Given the description of an element on the screen output the (x, y) to click on. 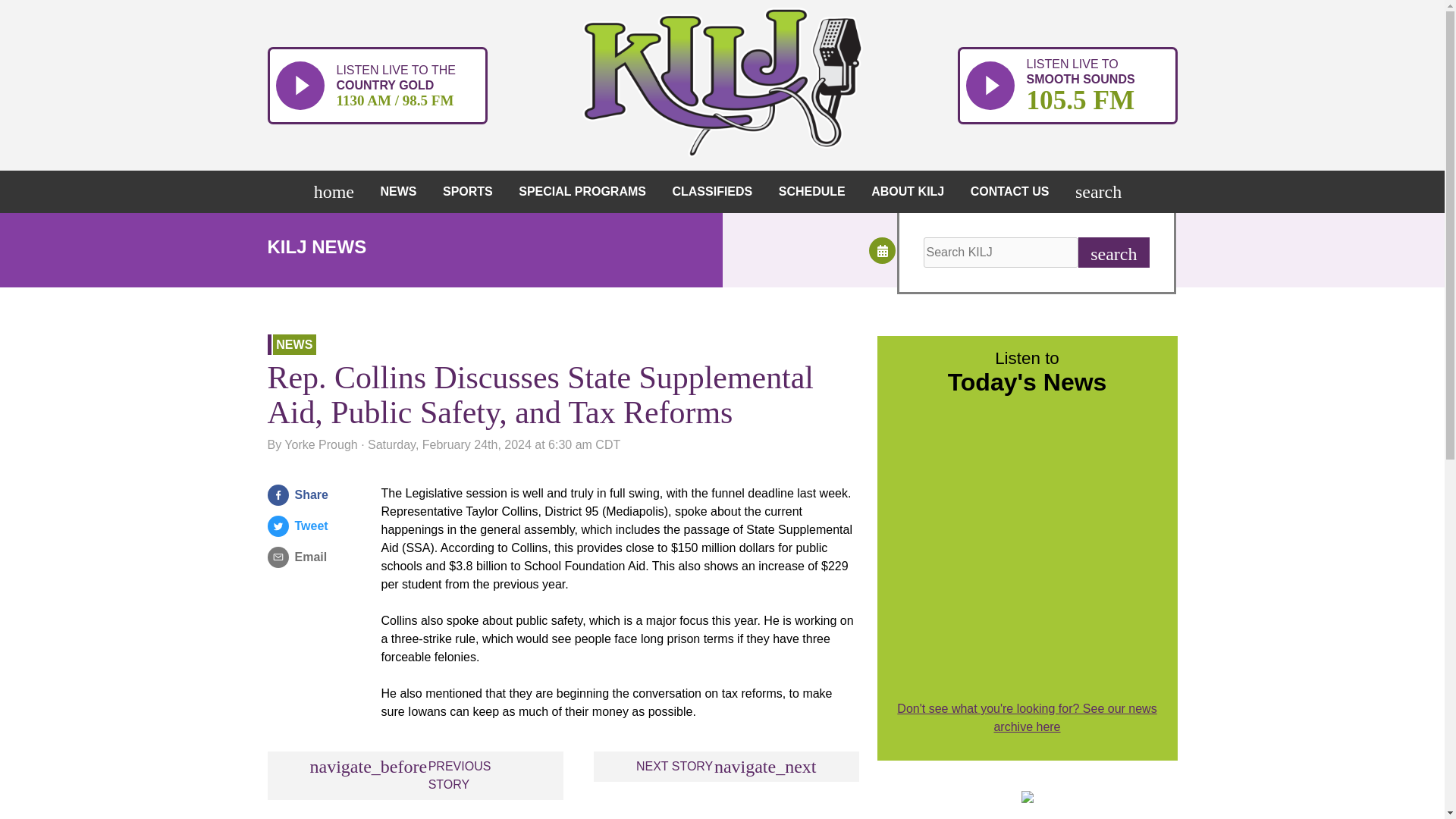
SPORTS (472, 191)
NEWS (402, 191)
home (337, 191)
